Given the description of an element on the screen output the (x, y) to click on. 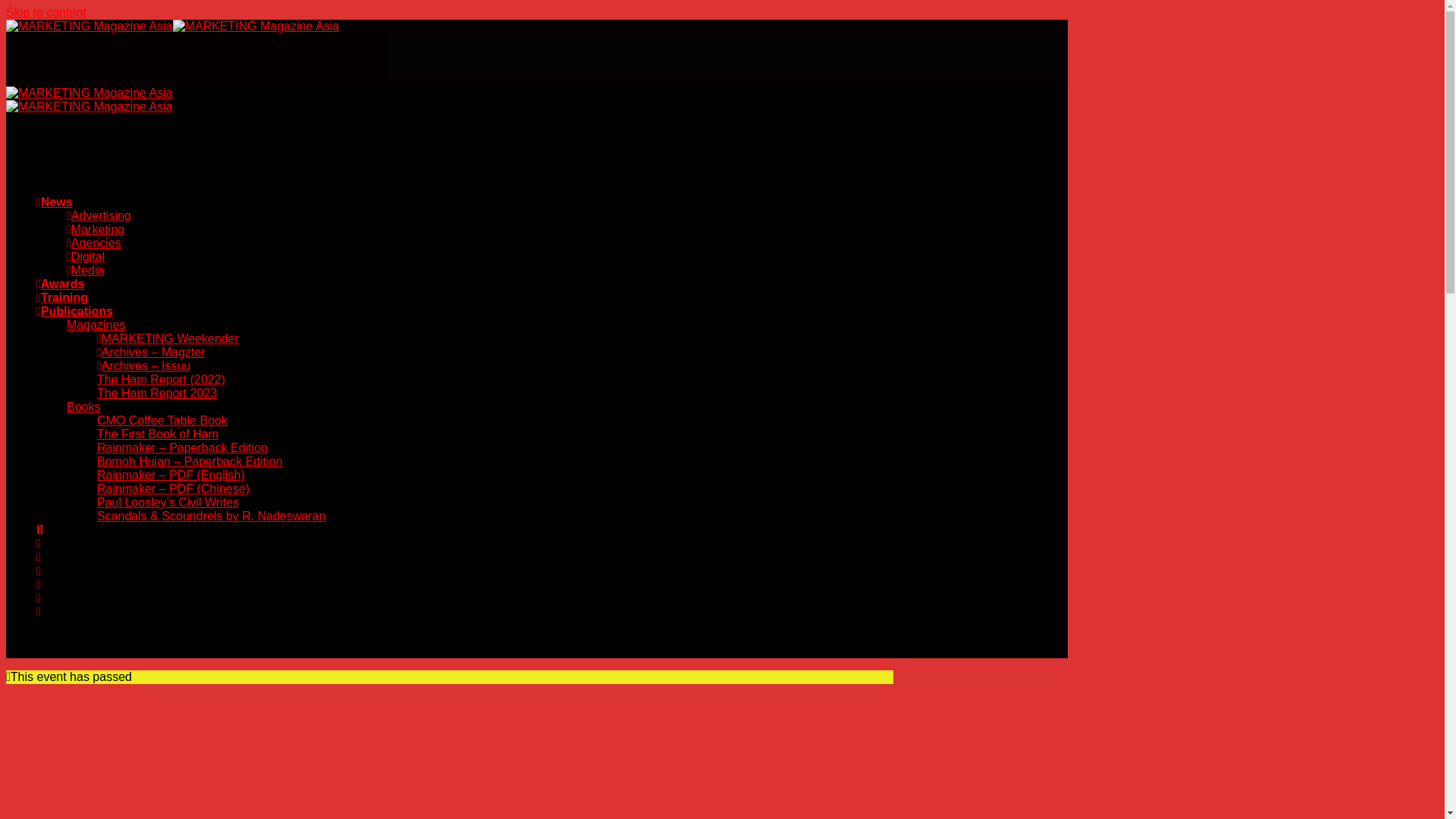
Marketing (94, 228)
Magazines (95, 324)
Awards (60, 283)
Skip to content (45, 11)
News (54, 201)
Books (83, 406)
MARKETING Weekender (167, 338)
DS (229, 757)
The First Book of Ham (157, 433)
The Ham Report 2023 (156, 392)
Media (84, 269)
Training (61, 297)
Agencies (93, 242)
CMO Coffee Table Book (162, 420)
Advertising (98, 215)
